Given the description of an element on the screen output the (x, y) to click on. 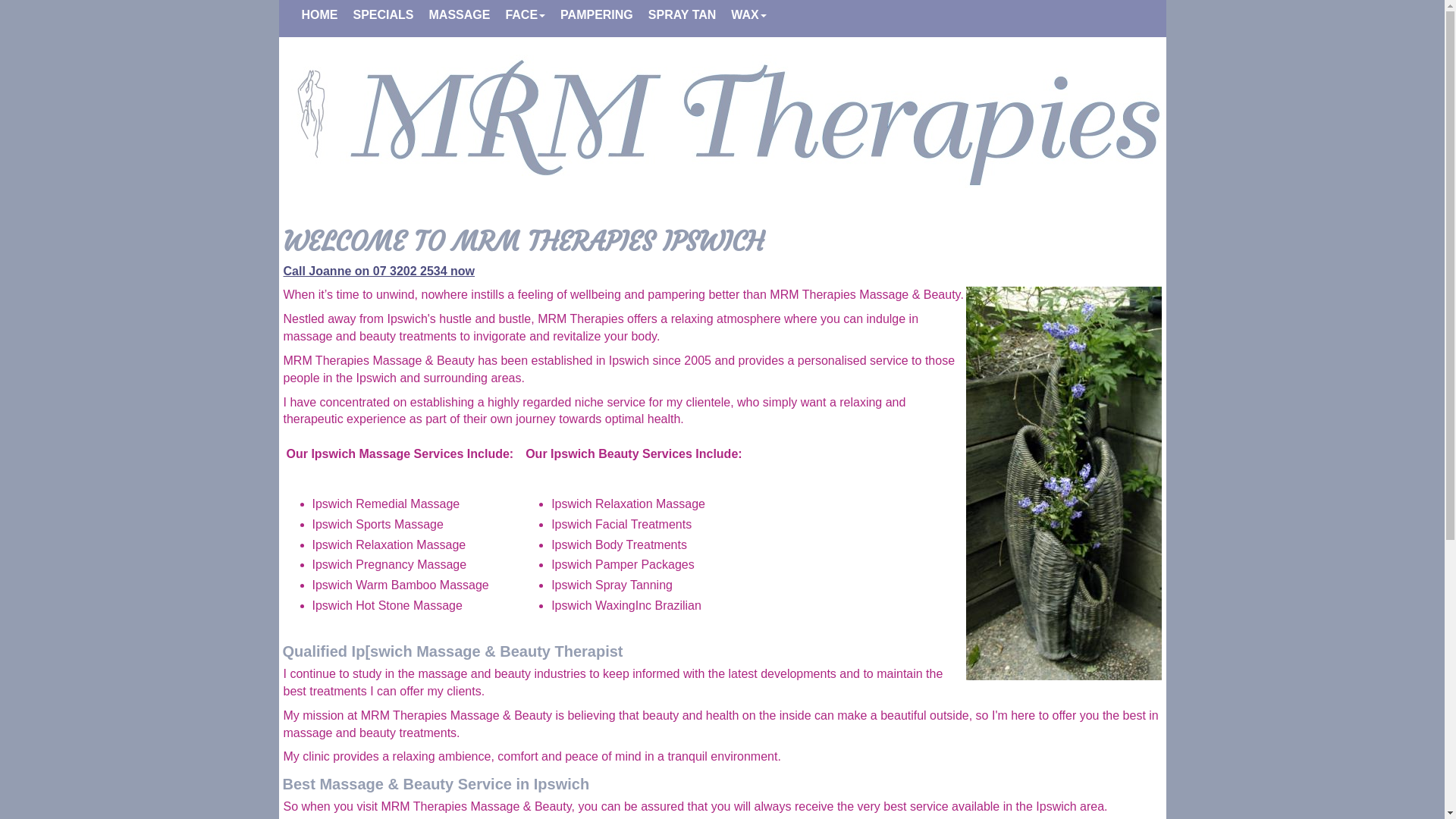
MASSAGE Element type: text (459, 14)
Call Joanne on 07 3202 2534 now Element type: text (379, 269)
WAX Element type: text (748, 14)
HOME Element type: text (319, 14)
SPECIALS Element type: text (382, 14)
PAMPERING Element type: text (596, 14)
FACE Element type: text (525, 14)
SPRAY TAN Element type: text (682, 14)
